Given the description of an element on the screen output the (x, y) to click on. 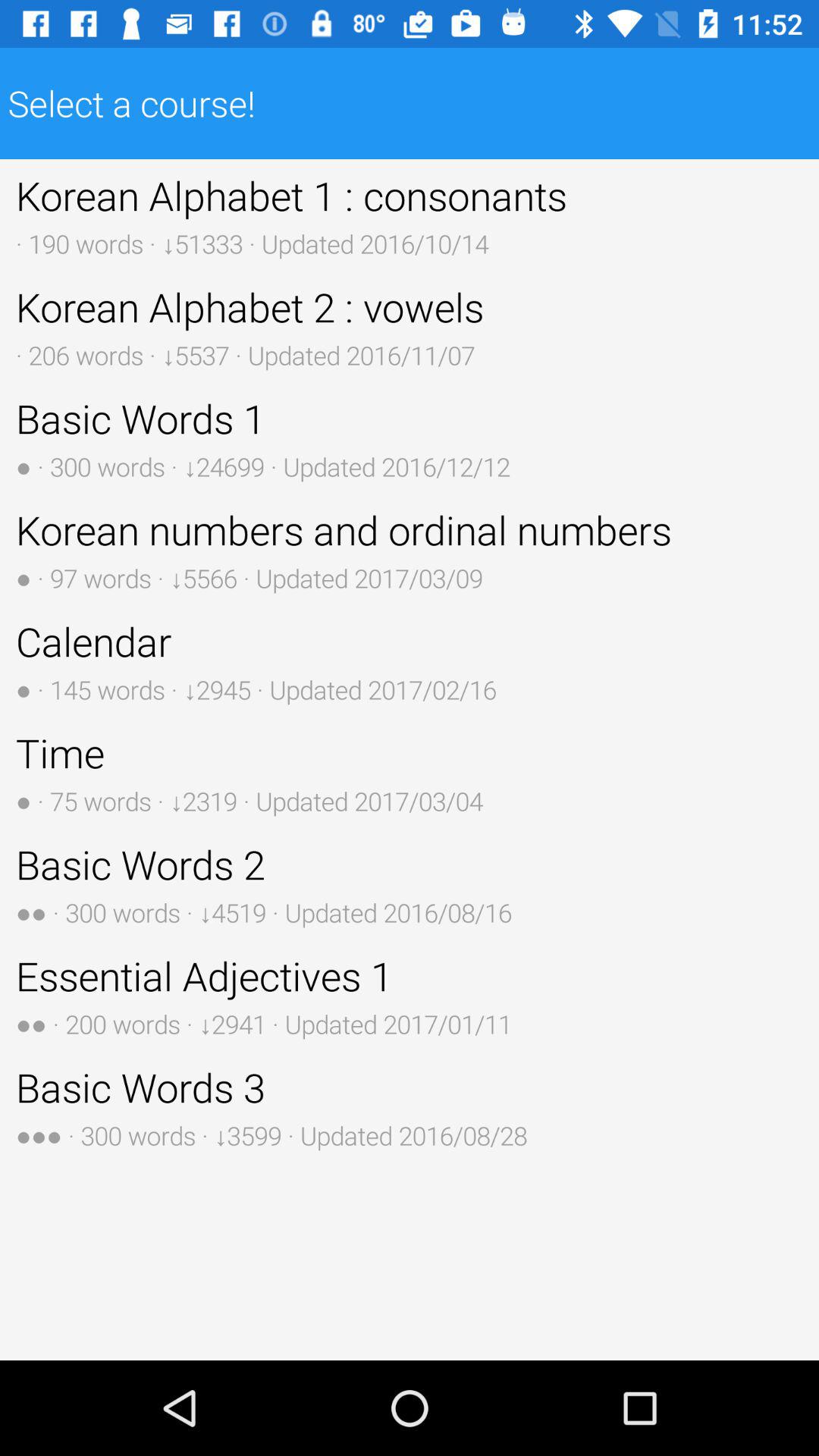
launch the icon above the calendar 145 words button (409, 549)
